Given the description of an element on the screen output the (x, y) to click on. 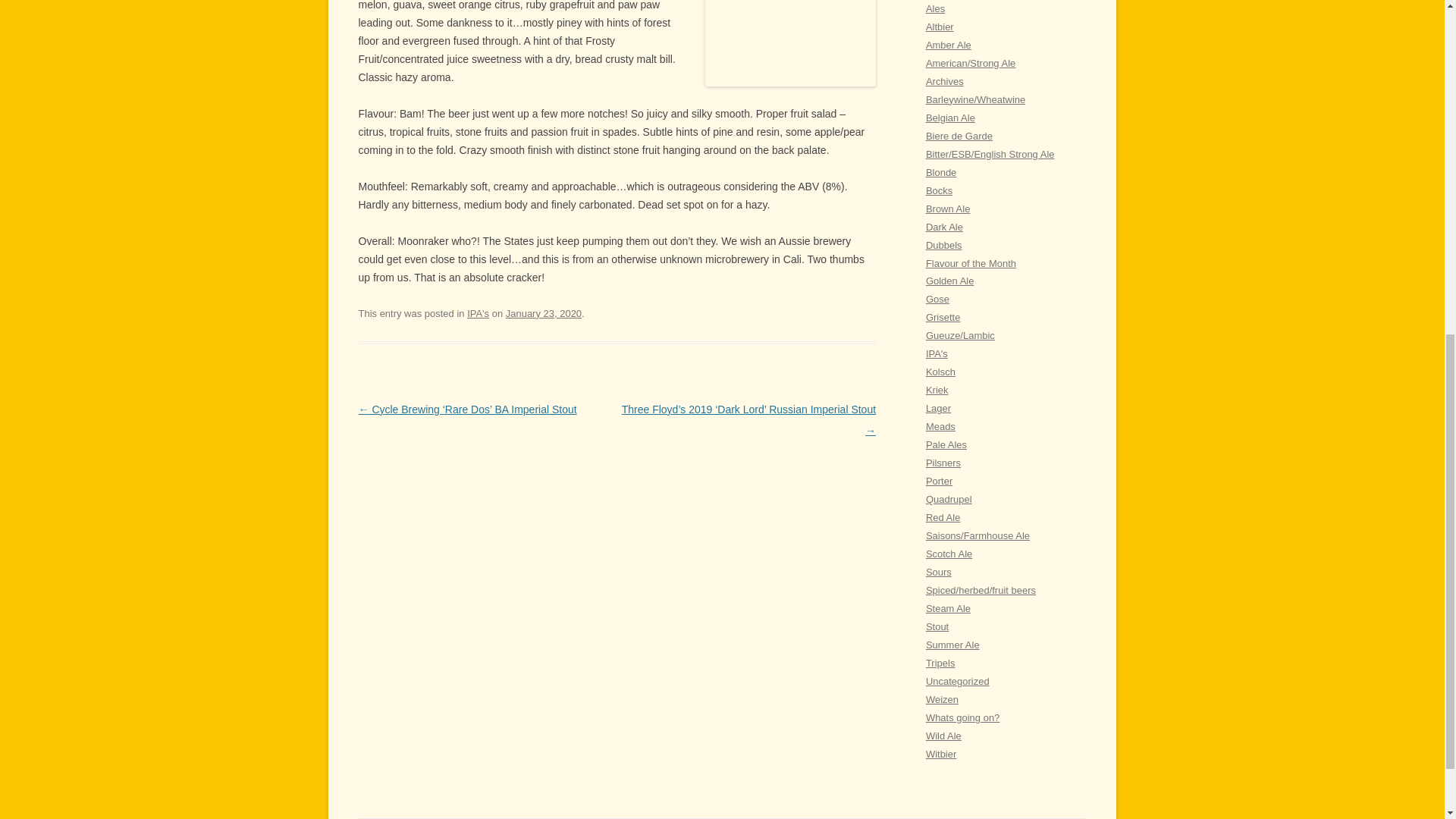
5:50 pm (542, 313)
Brown Ale (947, 208)
Porter (939, 480)
Kolsch (940, 371)
Flavour of the Month (971, 262)
Golden Ale (950, 280)
Pale Ales (946, 444)
Grisette (942, 317)
Dubbels (944, 244)
Amber Ale (948, 44)
